Given the description of an element on the screen output the (x, y) to click on. 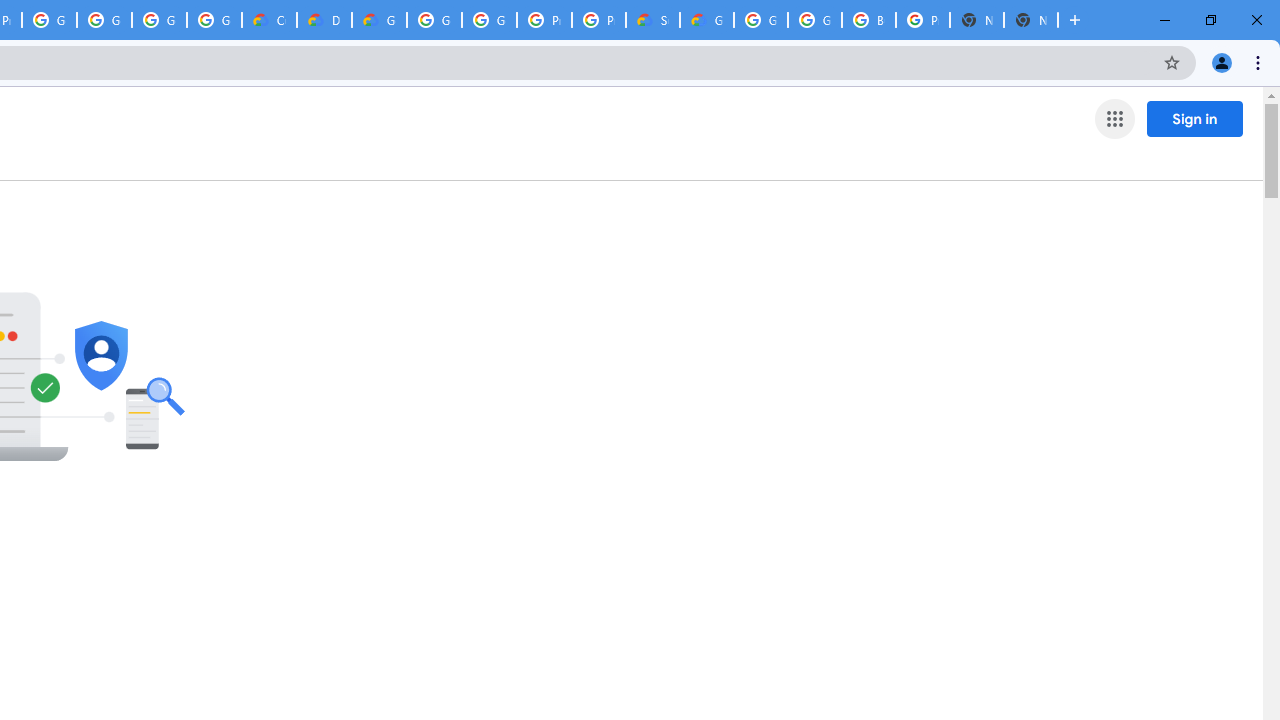
Support Hub | Google Cloud (652, 20)
Google Workspace - Specific Terms (213, 20)
Google Cloud Platform (434, 20)
Google Workspace - Specific Terms (158, 20)
Customer Care | Google Cloud (268, 20)
